Given the description of an element on the screen output the (x, y) to click on. 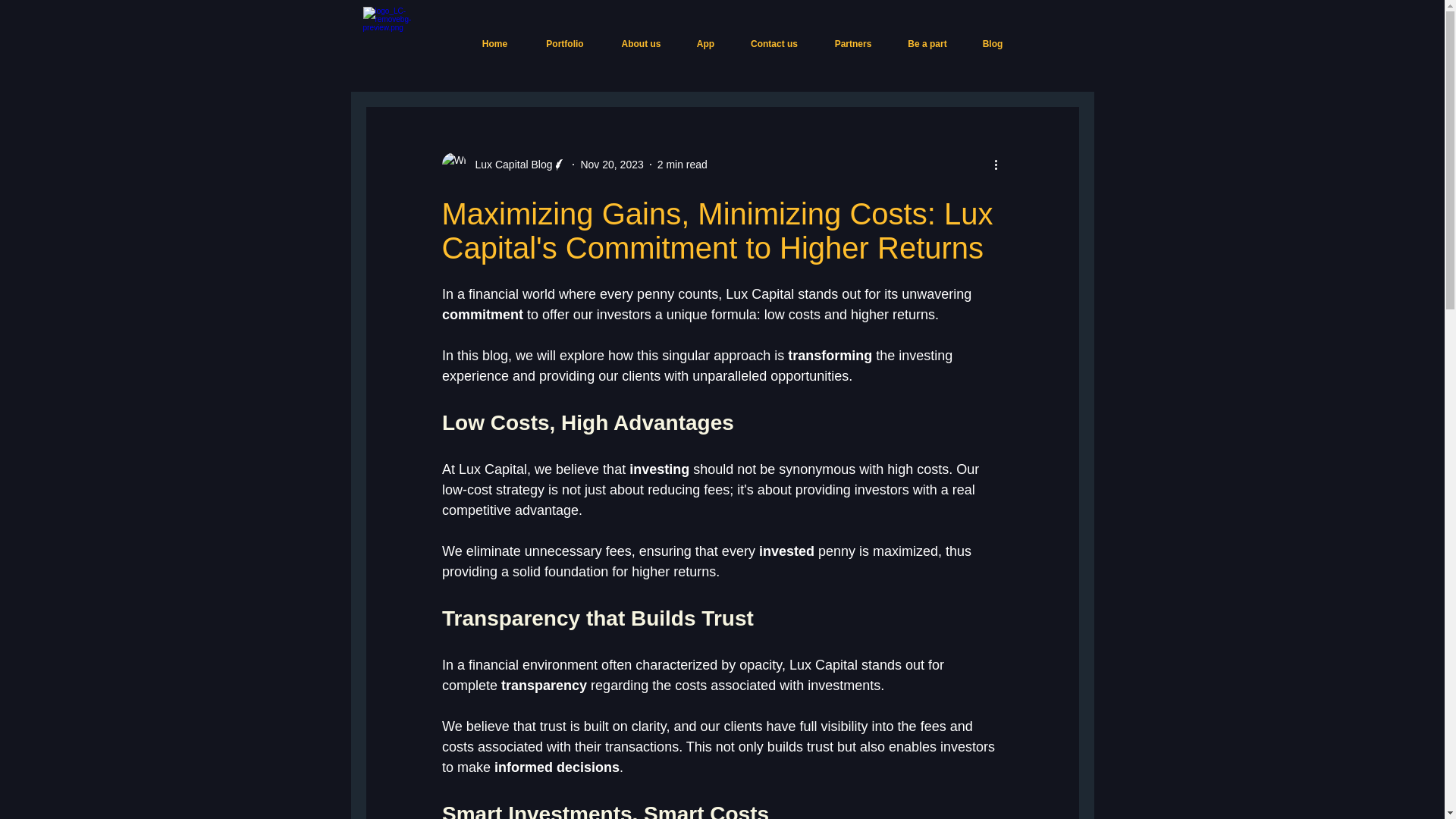
Contact us (774, 43)
About us (641, 43)
Blog (991, 43)
2 min read (682, 163)
Lux Capital Blog (508, 163)
Nov 20, 2023 (611, 163)
Home (494, 43)
App (705, 43)
Portfolio (563, 43)
